Given the description of an element on the screen output the (x, y) to click on. 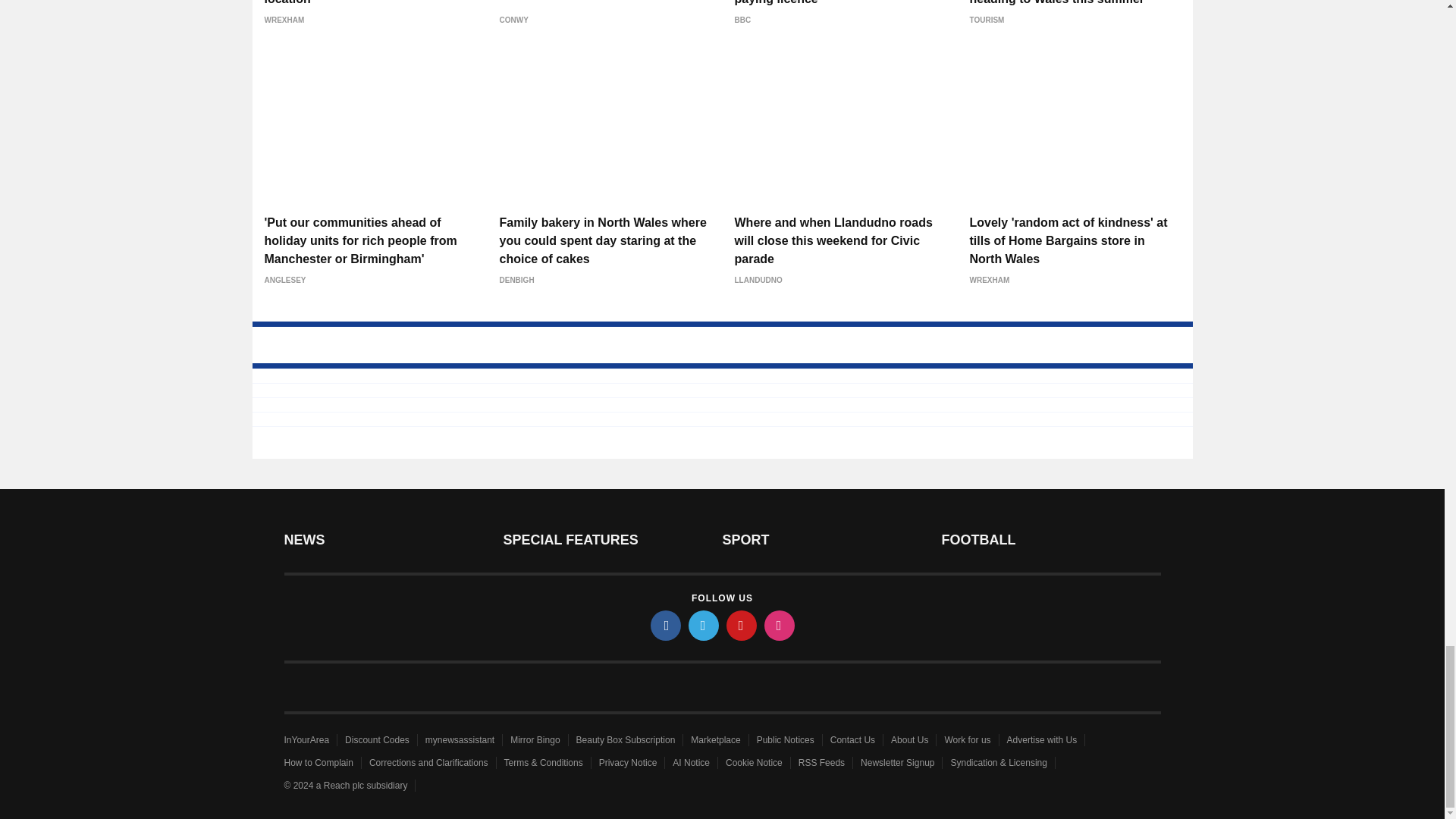
instagram (779, 625)
facebook (665, 625)
twitter (703, 625)
pinterest (741, 625)
